Given the description of an element on the screen output the (x, y) to click on. 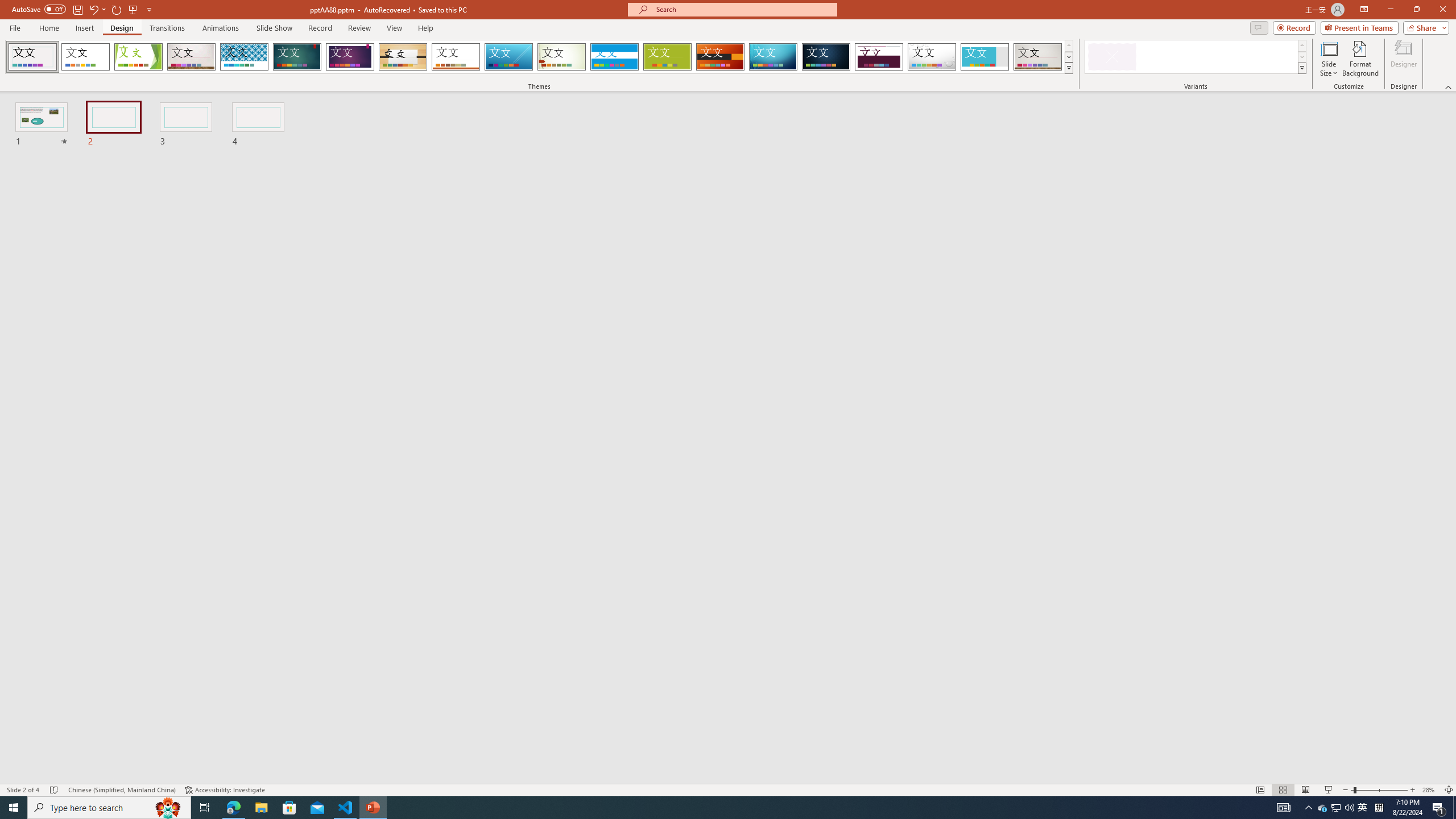
Facet (138, 56)
Ion Loading Preview... (296, 56)
